Given the description of an element on the screen output the (x, y) to click on. 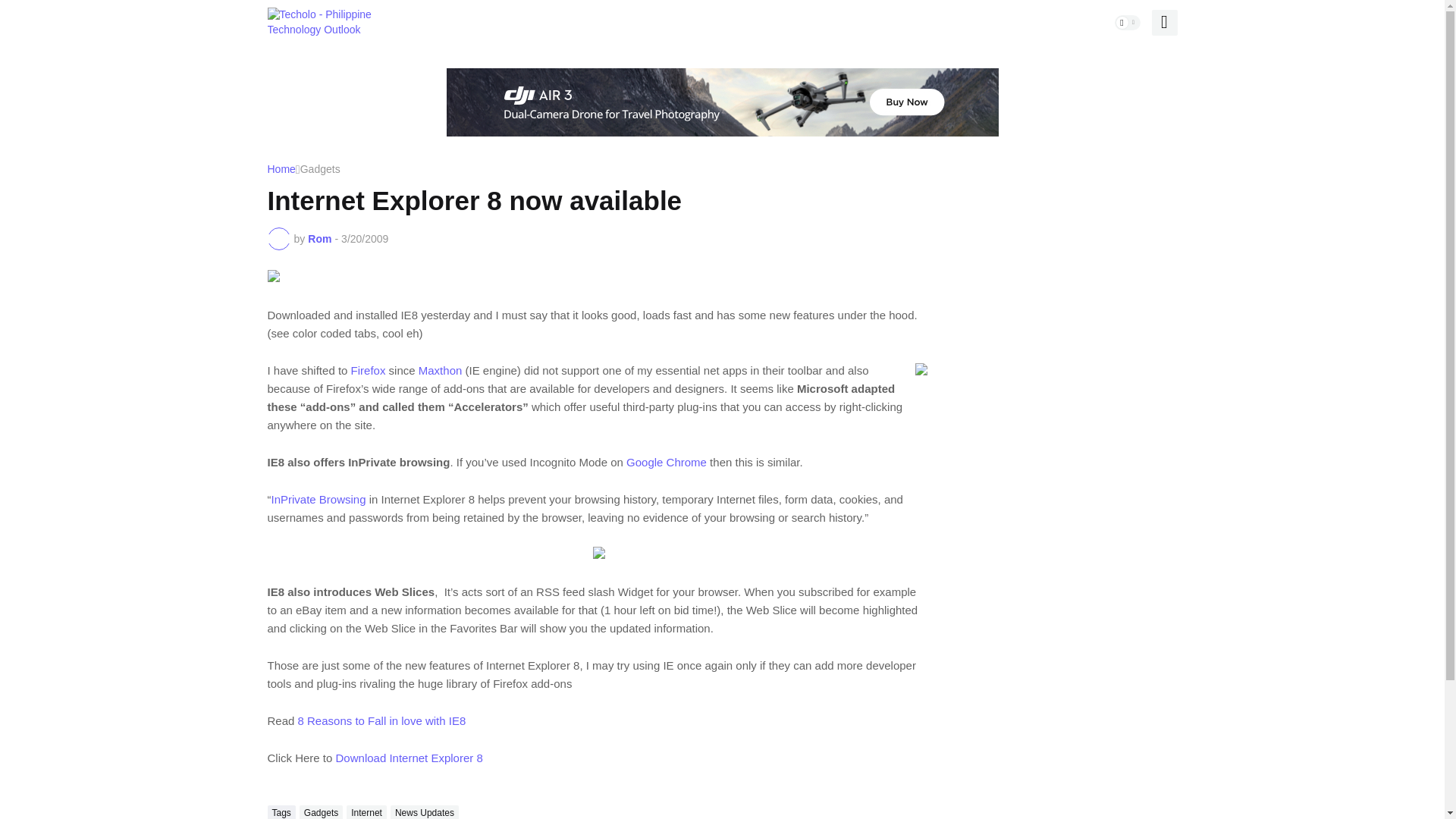
Gadgets (320, 812)
Google Chrome (666, 461)
Firefox (367, 369)
InPrivate Browsing (318, 499)
Mozilla Firefox (367, 369)
Gadgets (319, 169)
Home (280, 169)
Maxthon (441, 369)
Google Chrome (666, 461)
Search (1163, 22)
